Given the description of an element on the screen output the (x, y) to click on. 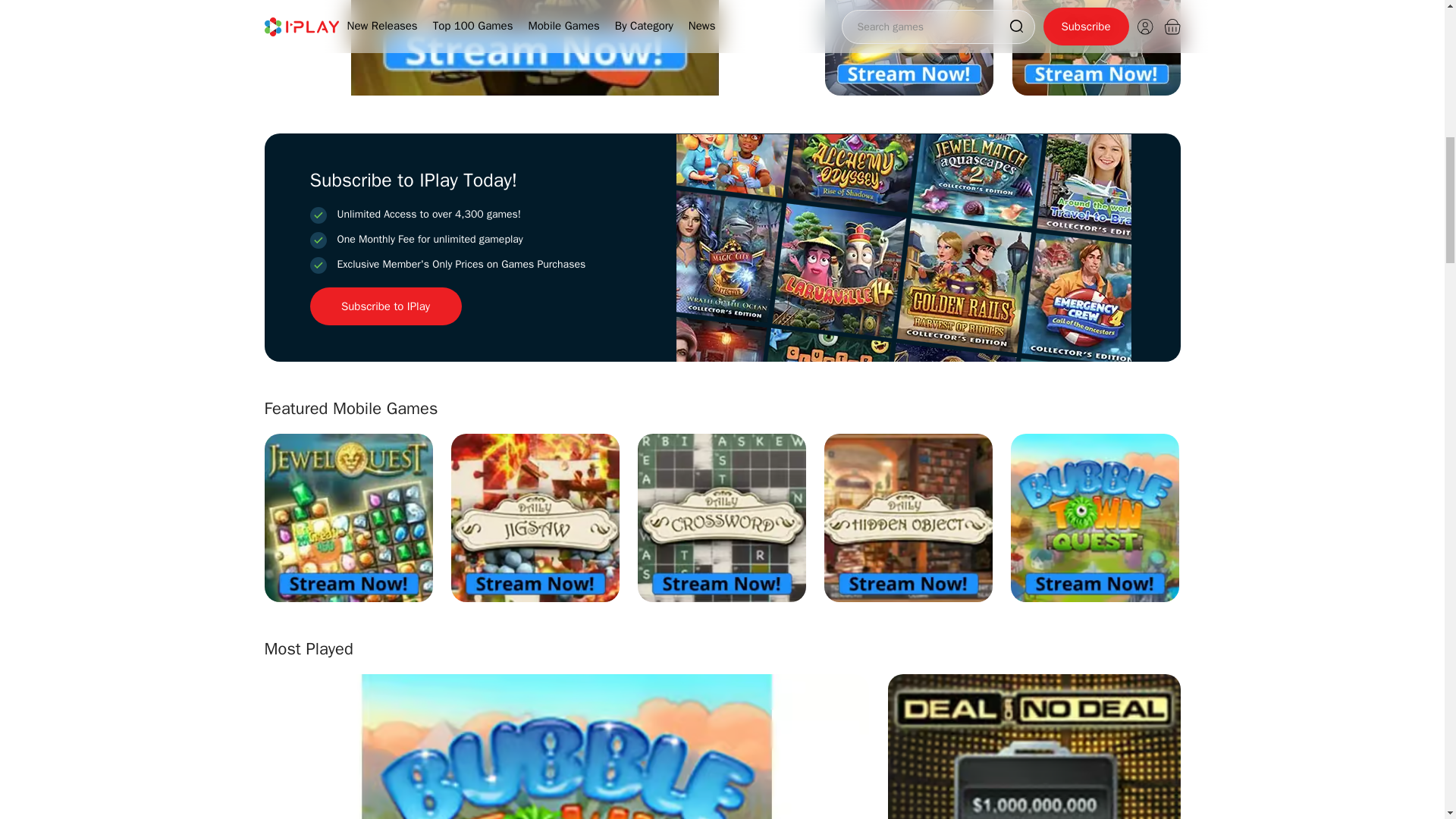
Subscribe to IPlay (384, 306)
